Given the description of an element on the screen output the (x, y) to click on. 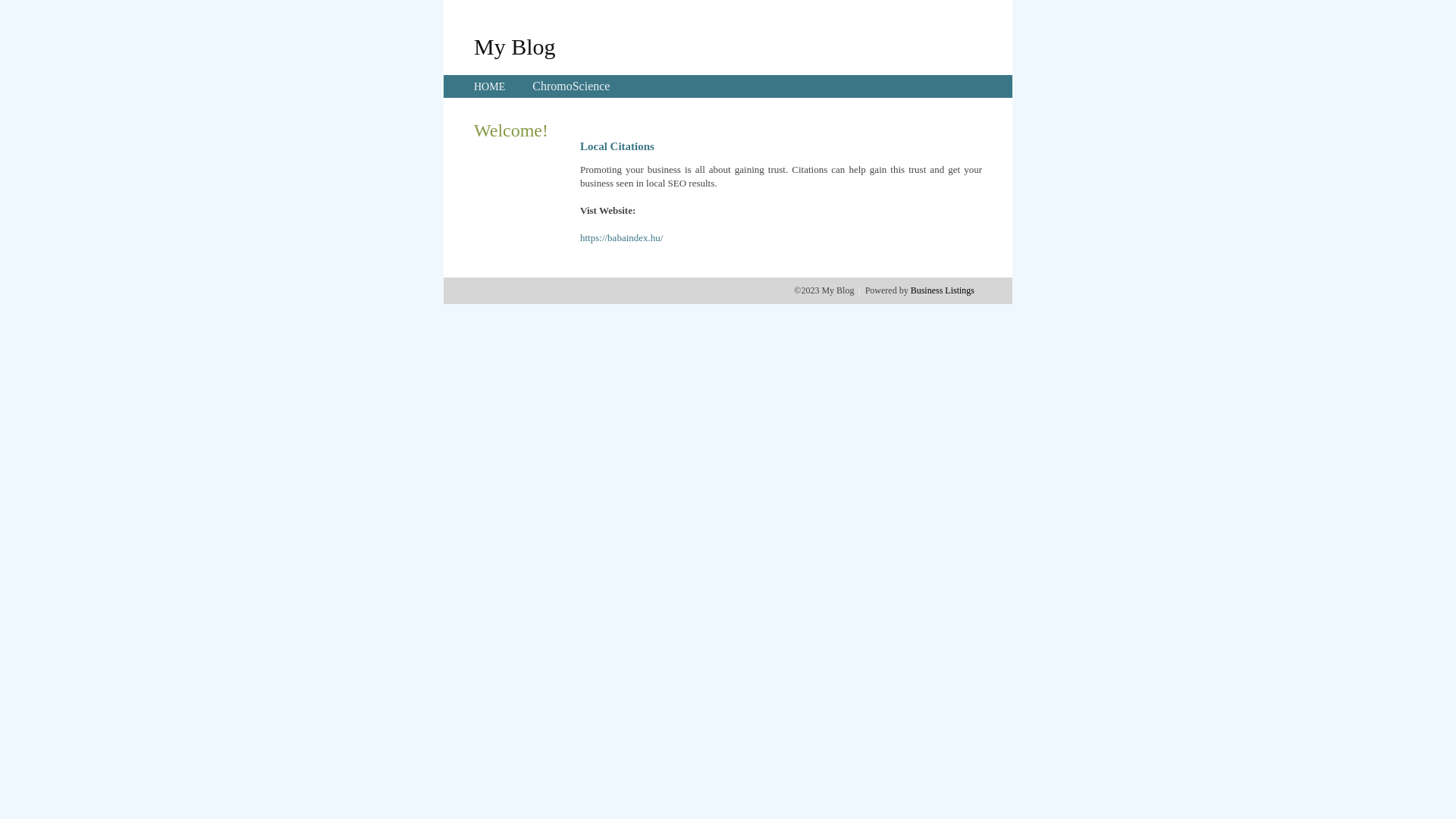
HOME Element type: text (489, 86)
https://babaindex.hu/ Element type: text (621, 237)
ChromoScience Element type: text (570, 85)
My Blog Element type: text (514, 46)
Business Listings Element type: text (942, 290)
